Given the description of an element on the screen output the (x, y) to click on. 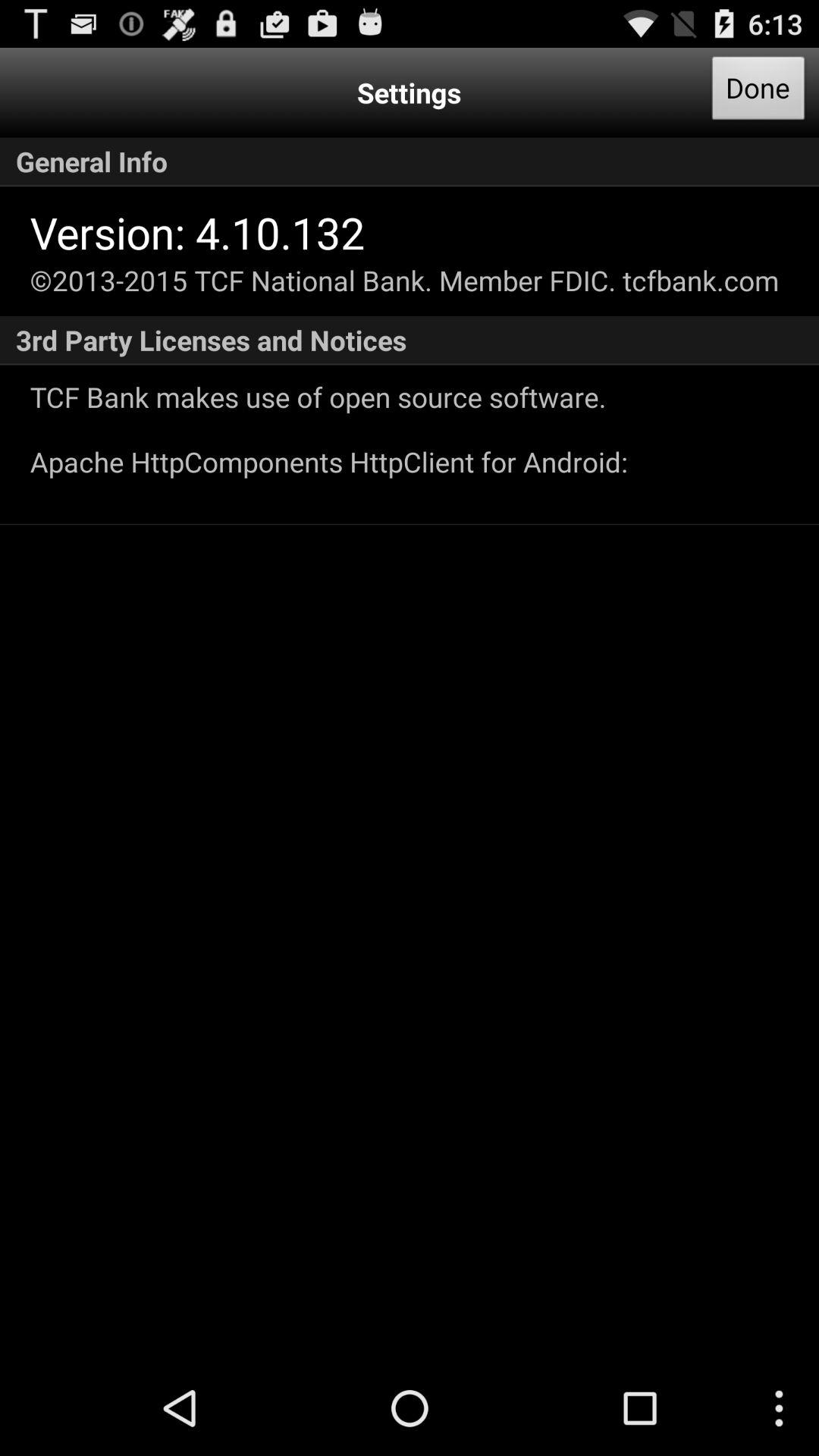
choose the item at the top left corner (197, 232)
